Given the description of an element on the screen output the (x, y) to click on. 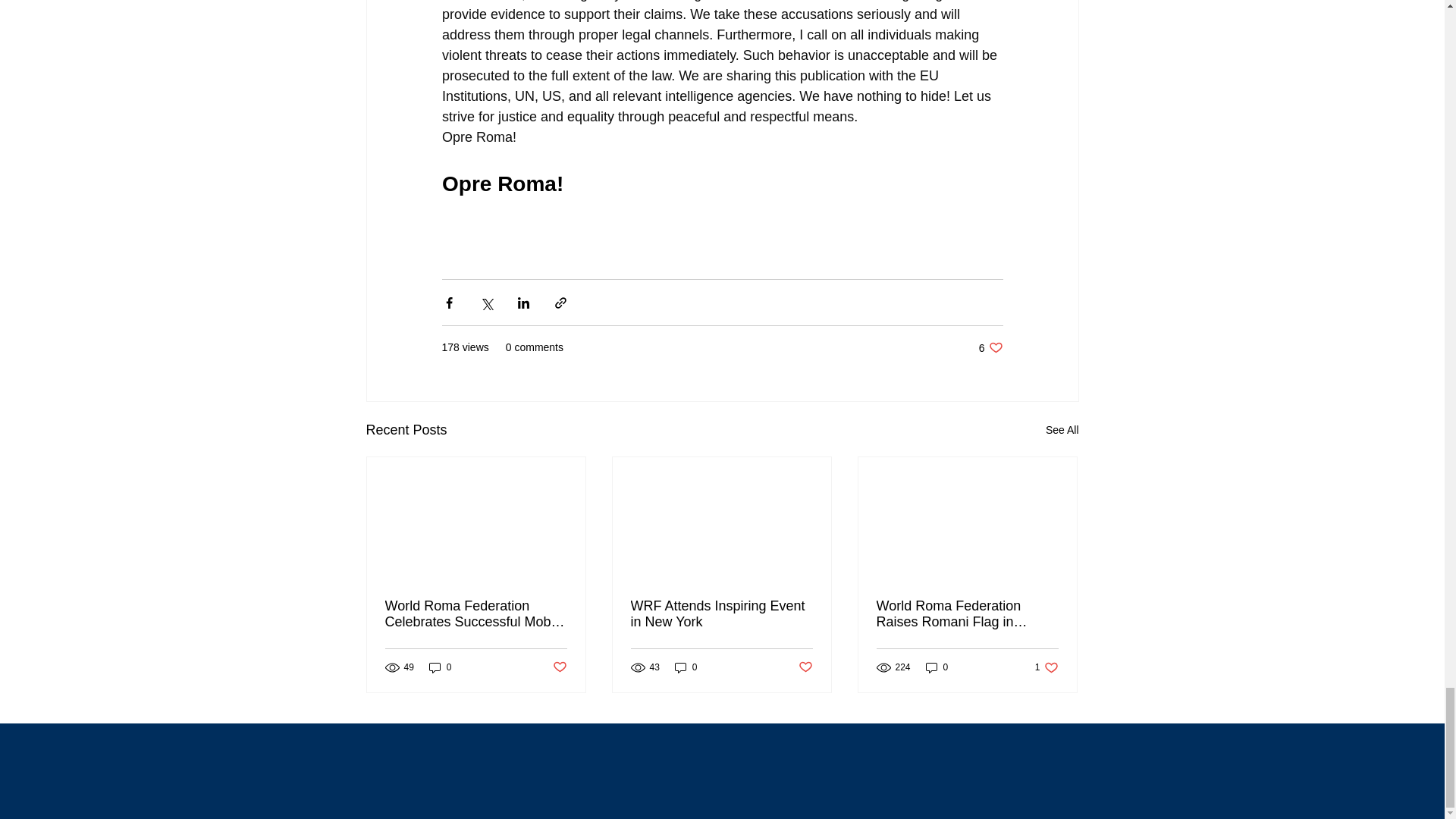
Post not marked as liked (558, 667)
0 (937, 667)
Post not marked as liked (804, 667)
0 (685, 667)
0 (440, 667)
See All (1046, 667)
WRF Attends Inspiring Event in New York (1061, 430)
